Given the description of an element on the screen output the (x, y) to click on. 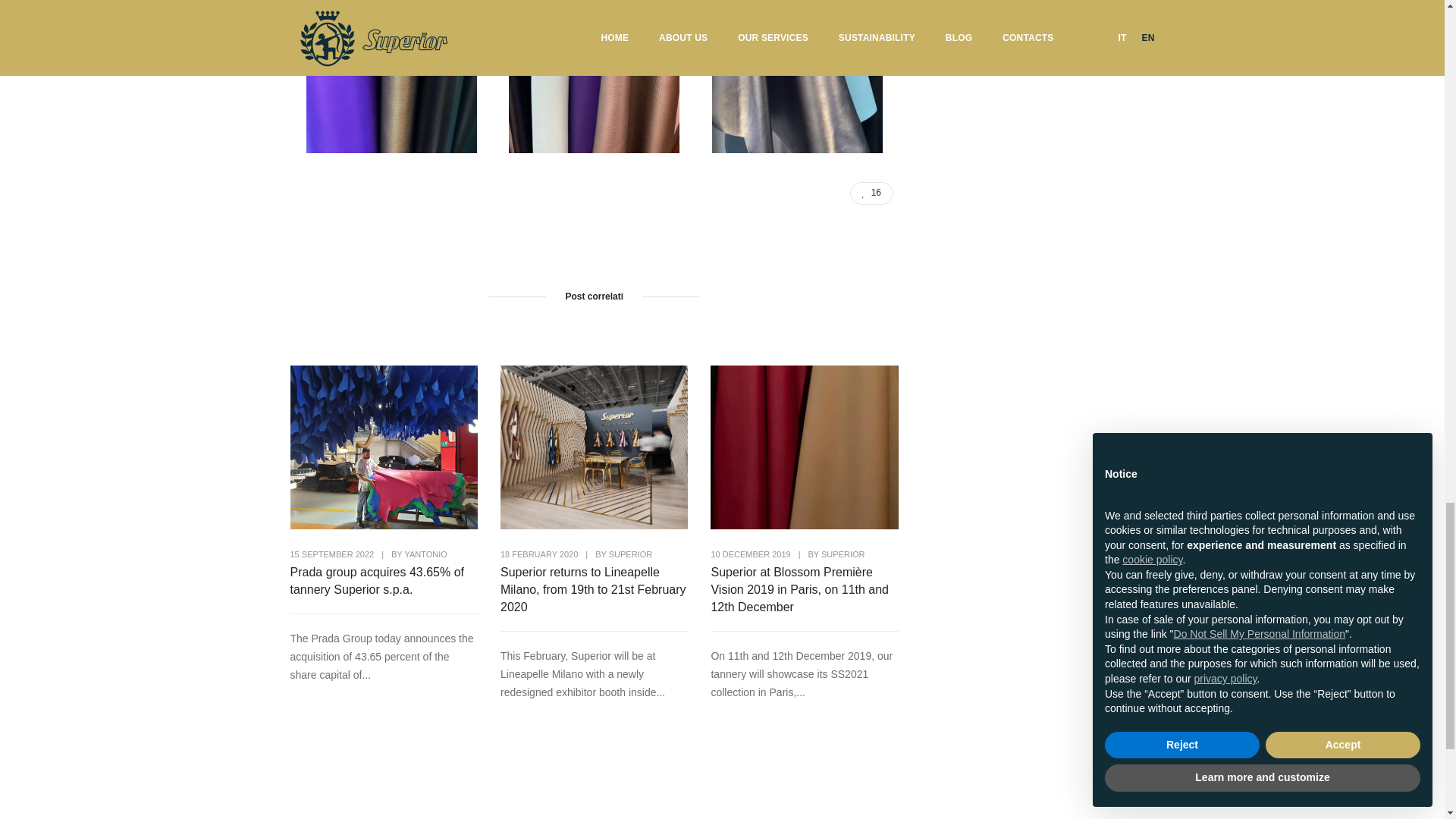
16 (871, 192)
YANTONIO (425, 553)
SUPERIOR (842, 553)
Like (871, 192)
SUPERIOR (630, 553)
